Given the description of an element on the screen output the (x, y) to click on. 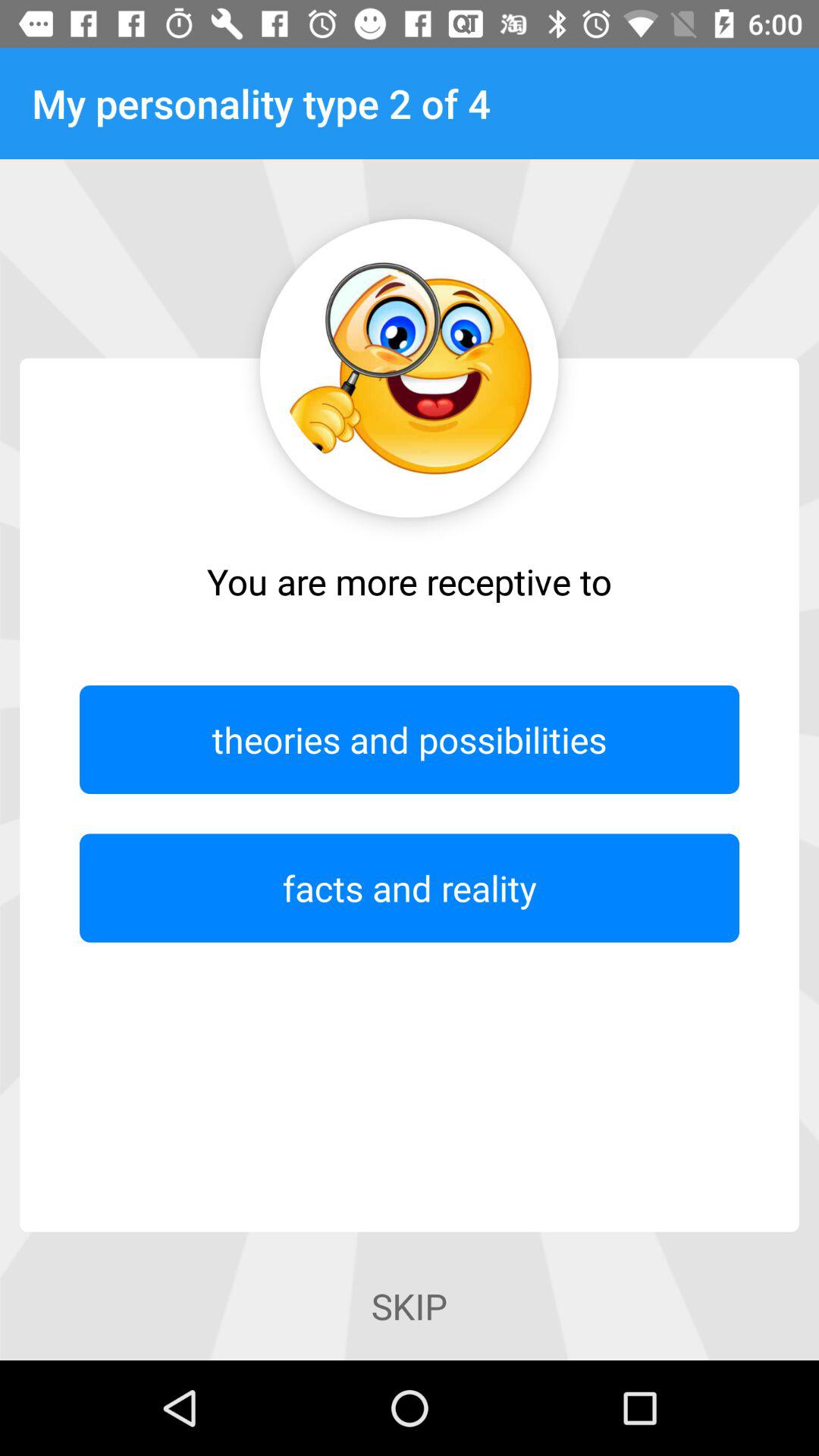
tap icon above the skip icon (409, 887)
